Given the description of an element on the screen output the (x, y) to click on. 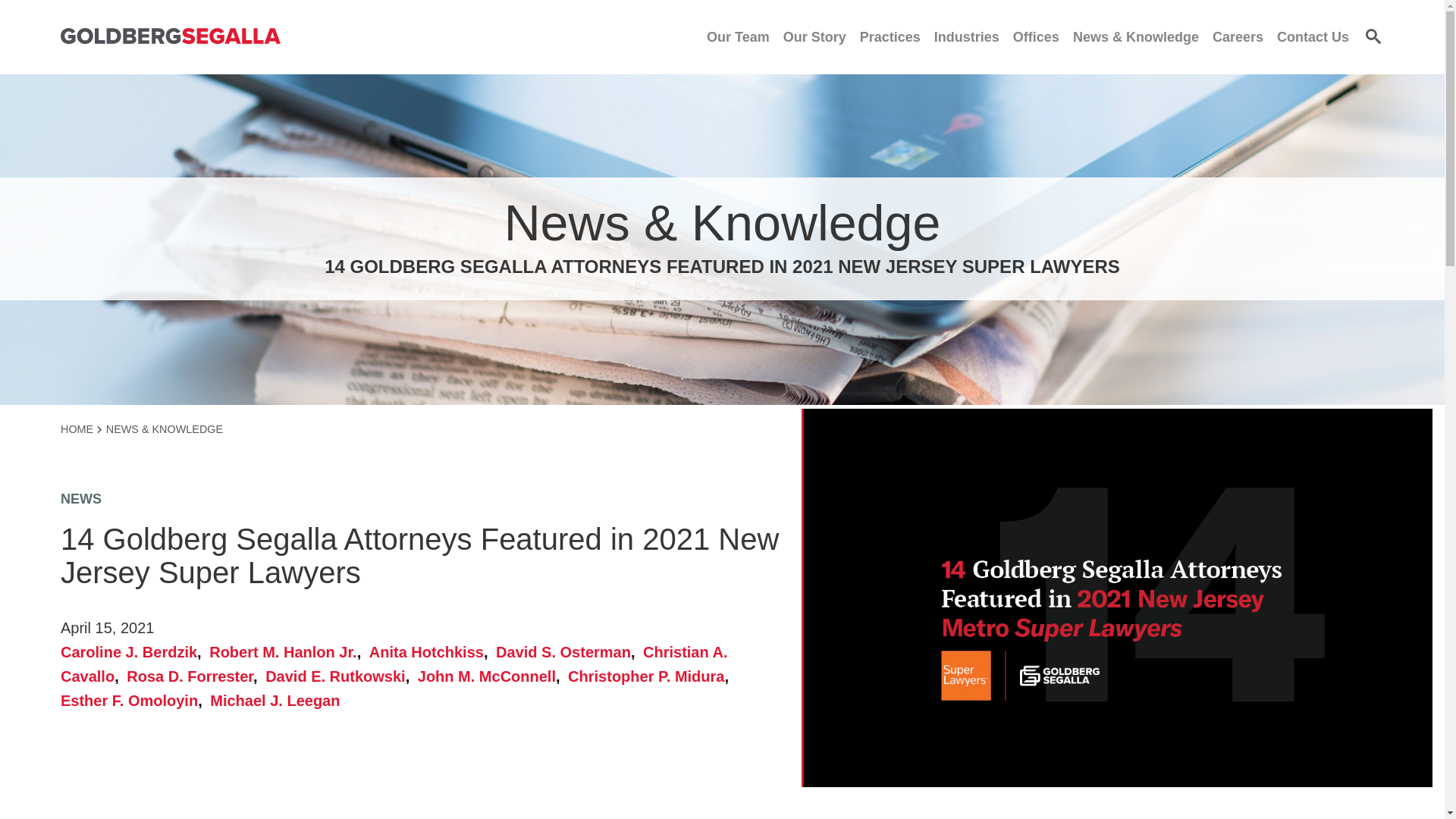
David S. Osterman (567, 651)
Caroline J. Berdzik (133, 651)
John M. McConnell (490, 676)
Our Story (814, 37)
Anita Hotchkiss (430, 651)
Robert M. Hanlon Jr. (287, 651)
Christopher P. Midura (649, 676)
Rosa D. Forrester (193, 676)
Practices (890, 37)
HOME (81, 428)
David E. Rutkowski (338, 676)
Our Team (738, 37)
Industries (966, 37)
Esther F. Omoloyin (133, 700)
Careers (1237, 37)
